Given the description of an element on the screen output the (x, y) to click on. 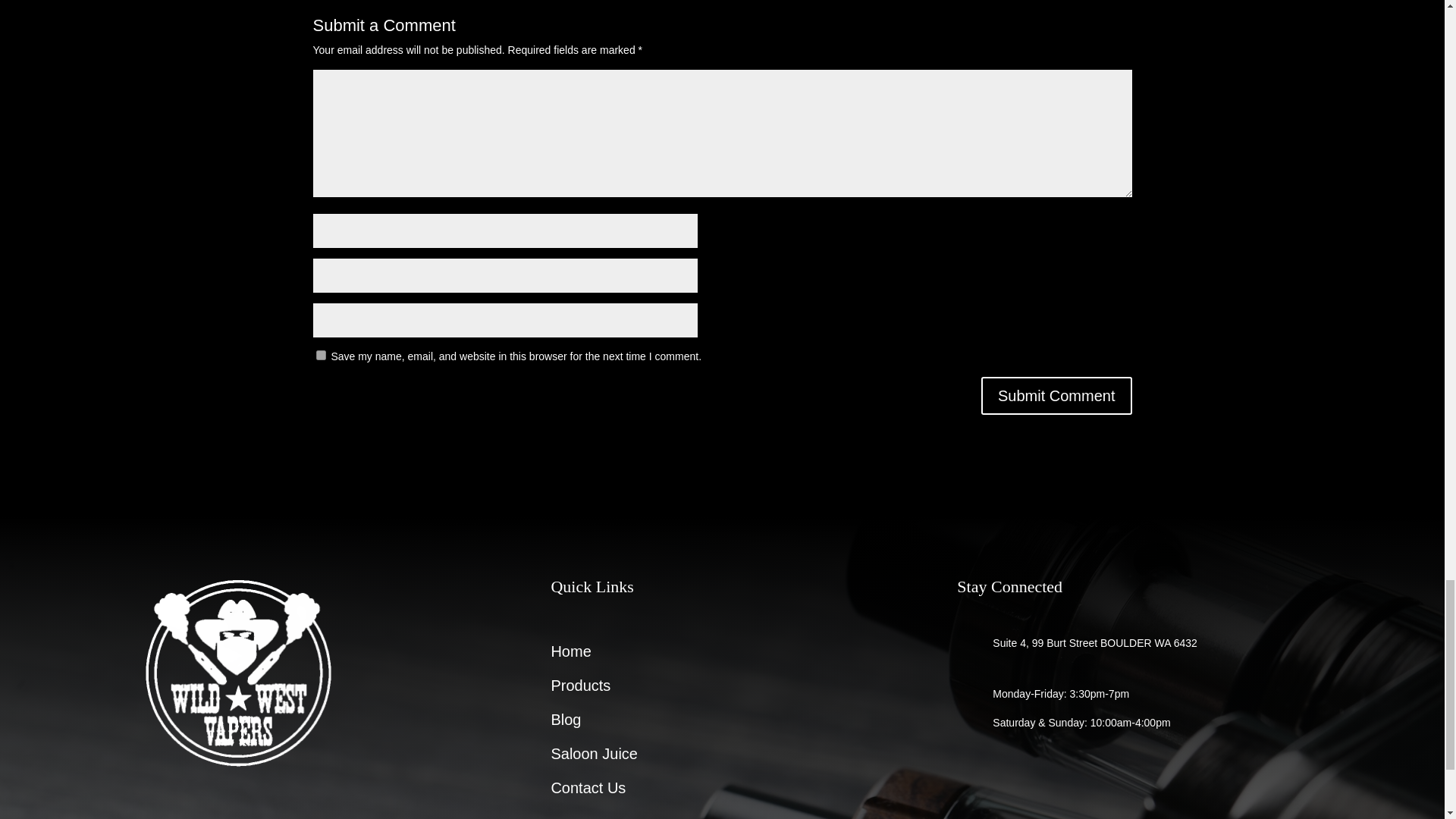
Blog (565, 723)
yes (319, 355)
Contact Us (588, 791)
Wild-West-Vapers-Logo (238, 672)
Submit Comment (1056, 395)
Saloon Juice (593, 756)
Submit Comment (1056, 395)
Products (580, 688)
Home (570, 654)
